Given the description of an element on the screen output the (x, y) to click on. 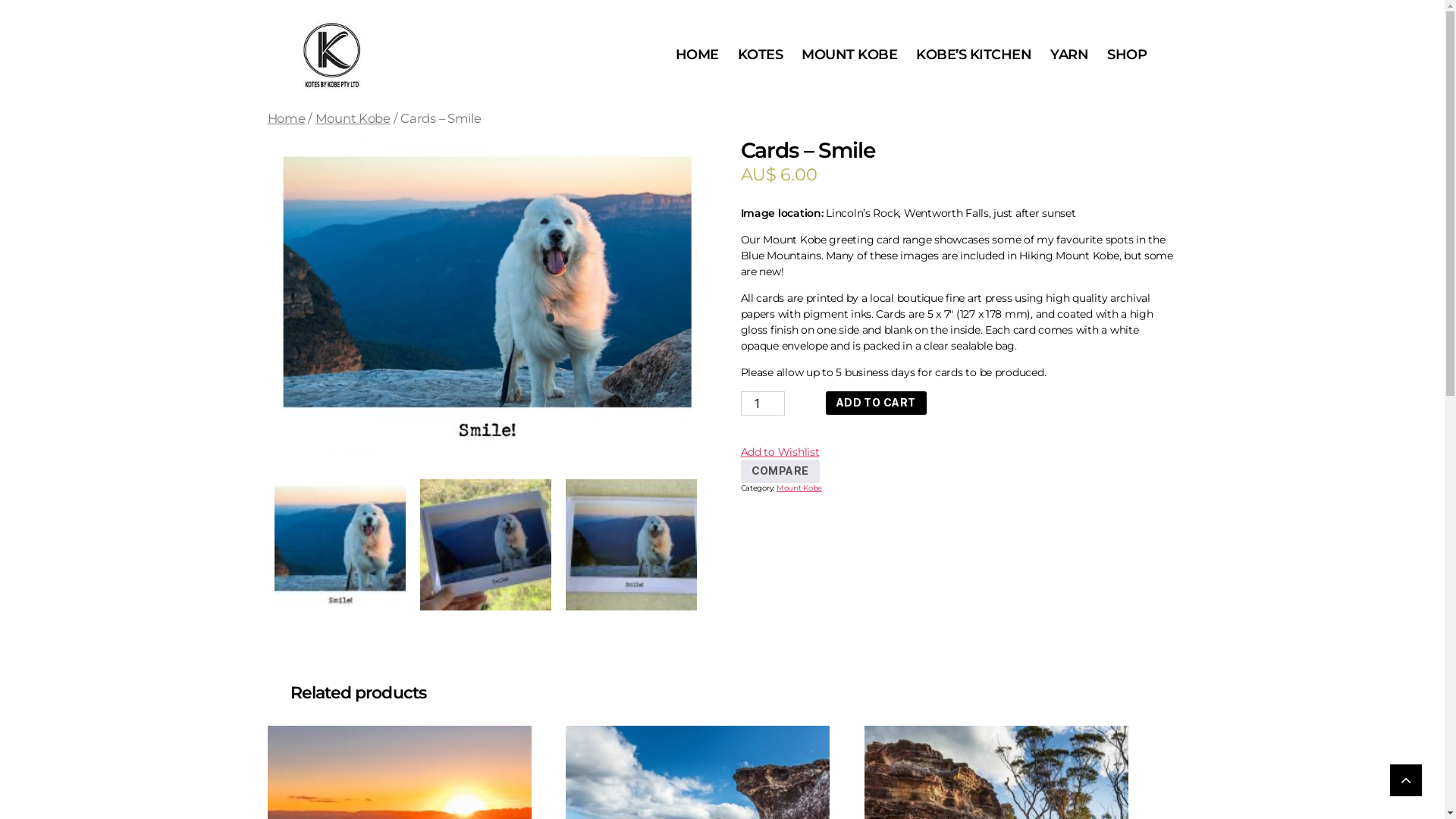
SHOP Element type: text (1126, 55)
IMG_9398 Element type: hover (630, 544)
KOTES Element type: text (760, 55)
Add to Wishlist Element type: text (779, 451)
IMG_9397 Element type: hover (485, 544)
HOME Element type: text (696, 55)
COMPARE Element type: text (779, 471)
YARN Element type: text (1069, 55)
Mount Kobe Element type: text (799, 487)
Home Element type: text (285, 117)
MOUNT KOBE Element type: text (849, 55)
Mount Kobe Element type: text (352, 117)
ADD TO CART Element type: text (875, 402)
